Given the description of an element on the screen output the (x, y) to click on. 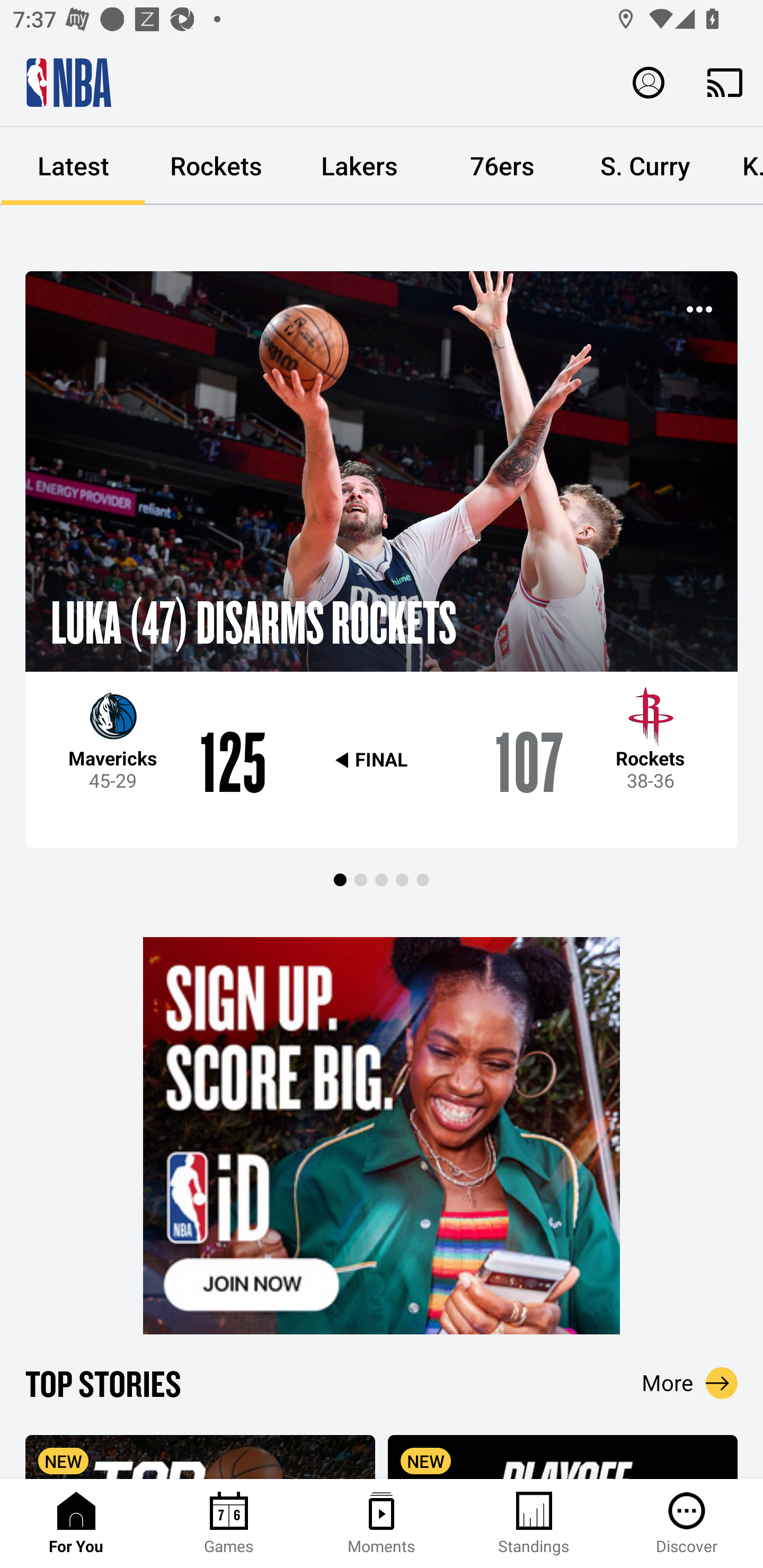
Cast. Disconnected (724, 82)
Profile (648, 81)
Rockets (215, 166)
Lakers (359, 166)
76ers (502, 166)
S. Curry (645, 166)
More (689, 1382)
Games (228, 1523)
Moments (381, 1523)
Standings (533, 1523)
Discover (686, 1523)
